Given the description of an element on the screen output the (x, y) to click on. 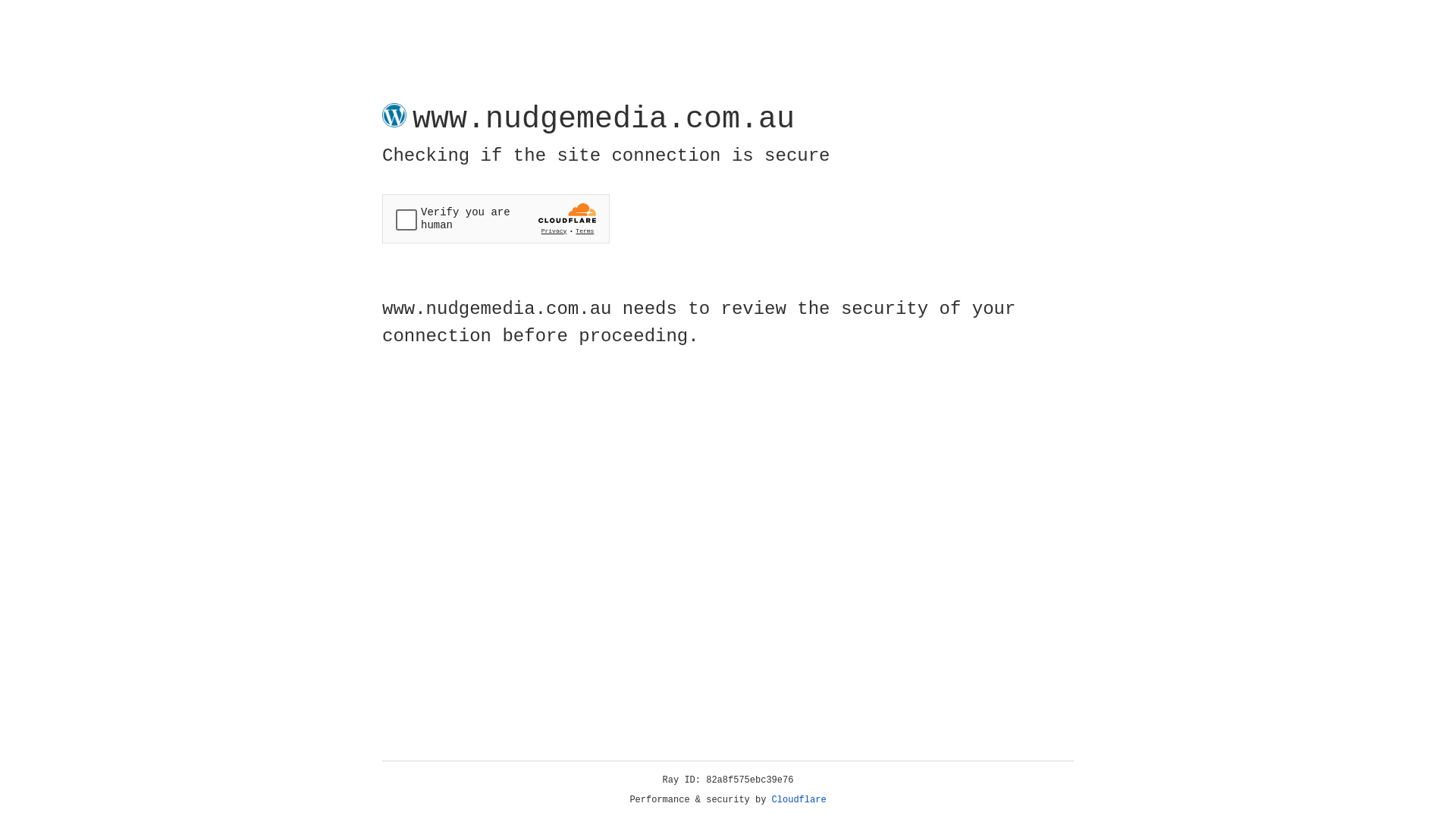
Cloudflare Element type: text (798, 799)
Widget containing a Cloudflare security challenge Element type: hover (495, 218)
